Given the description of an element on the screen output the (x, y) to click on. 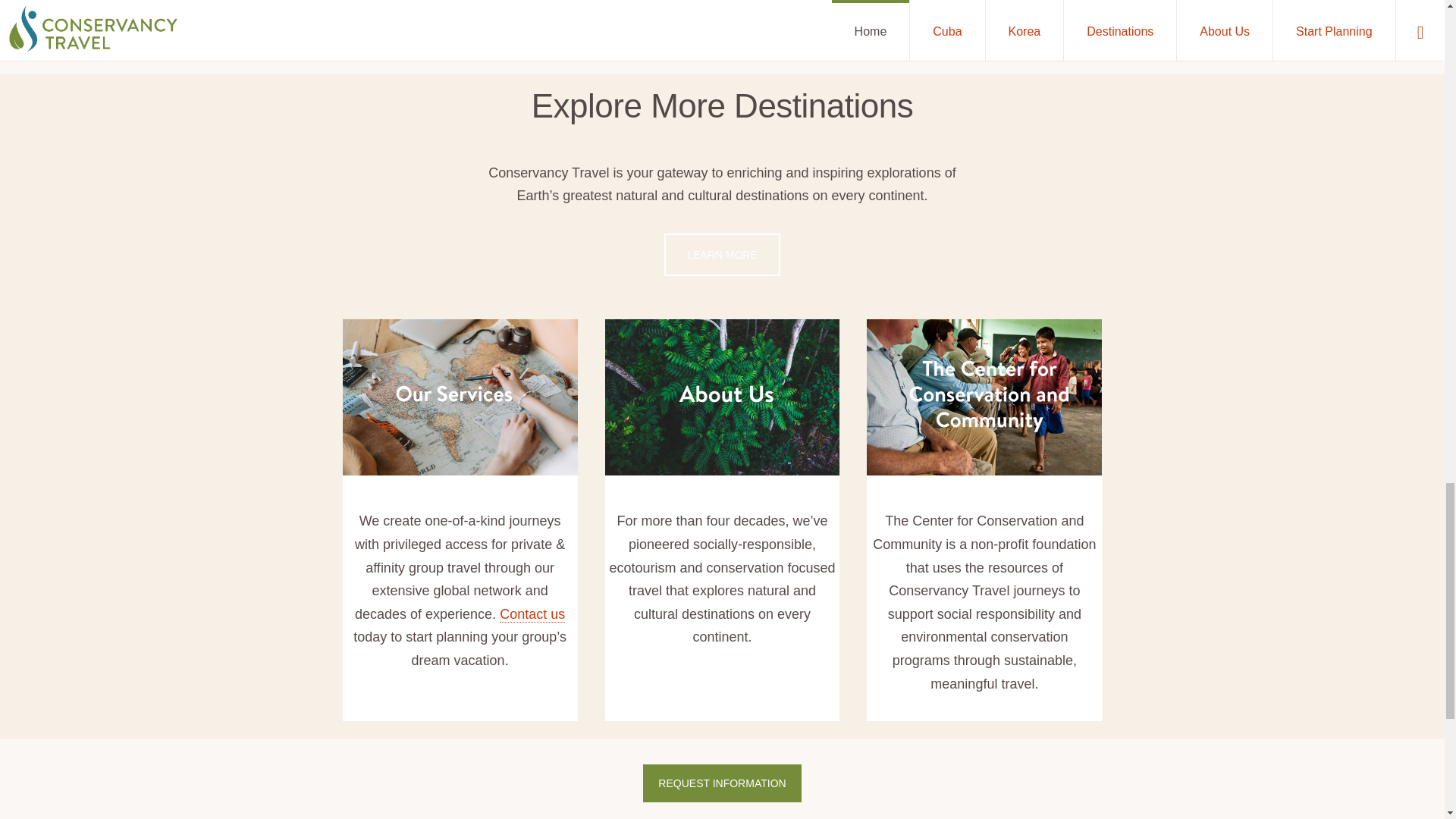
REQUEST INFORMATION (721, 783)
Contact us (531, 614)
LEARN MORE (721, 254)
